Given the description of an element on the screen output the (x, y) to click on. 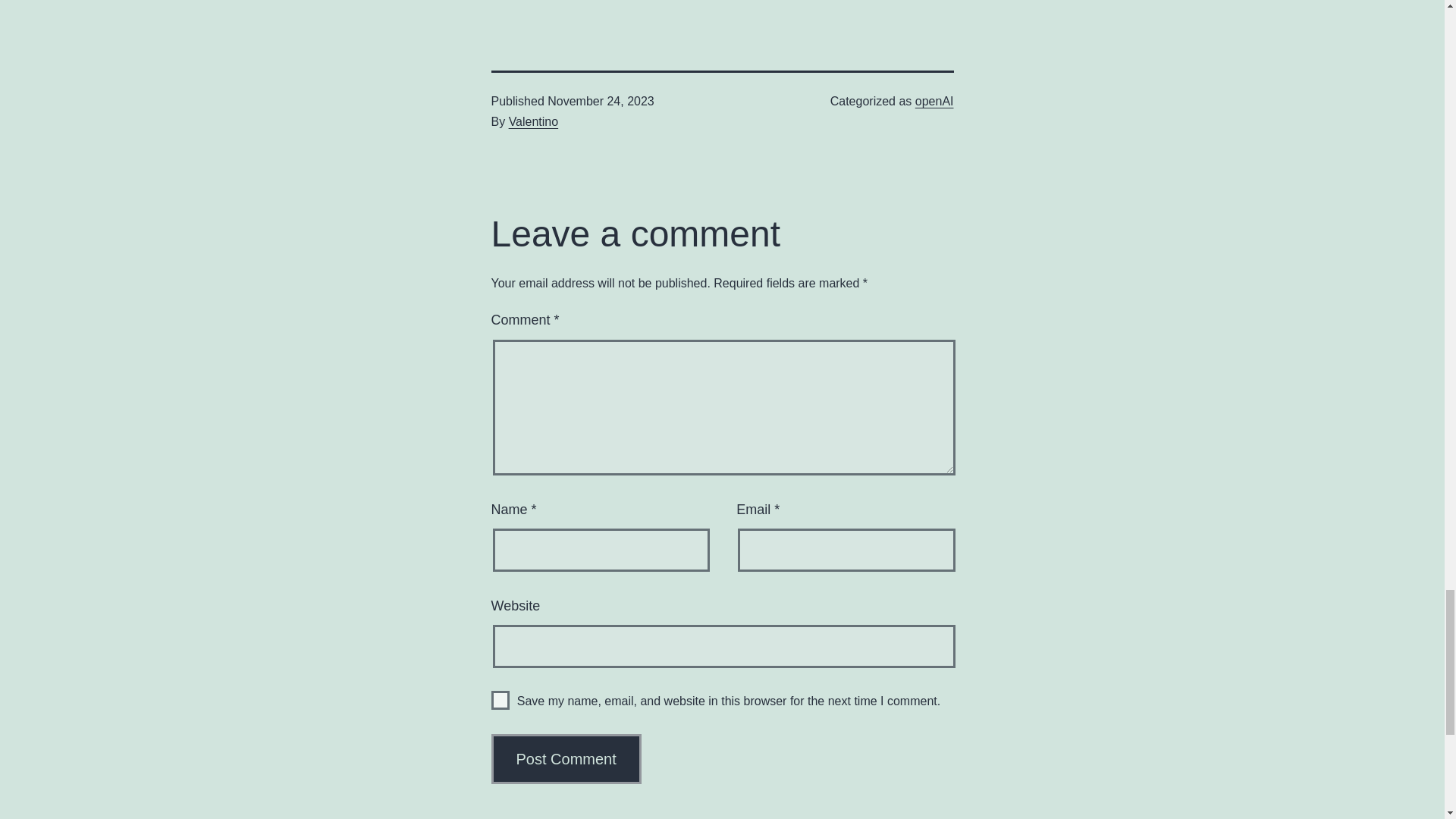
Valentino (533, 121)
Post Comment (567, 758)
yes (500, 700)
openAI (934, 101)
Post Comment (567, 758)
